Given the description of an element on the screen output the (x, y) to click on. 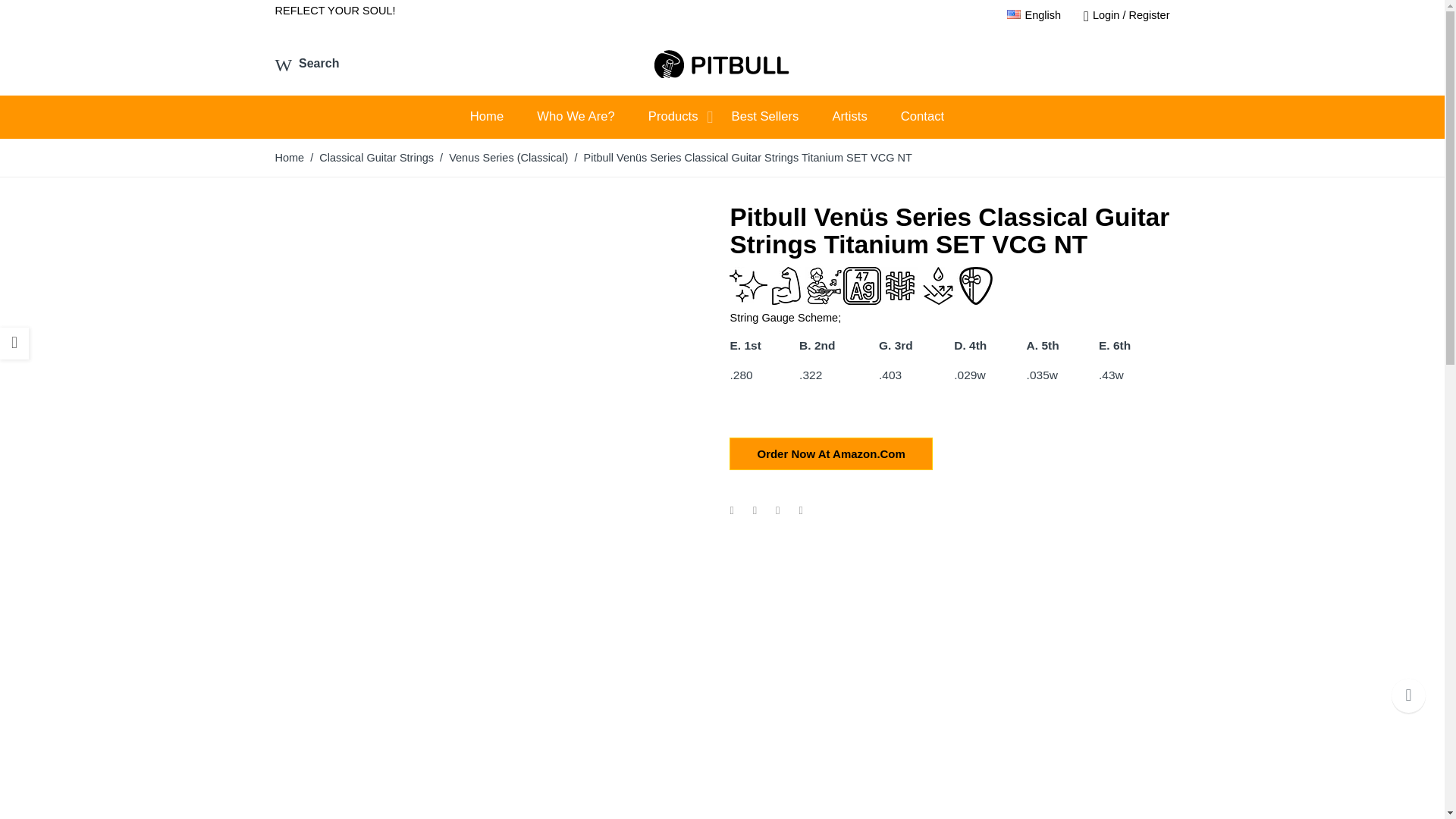
  Search (307, 62)
Products (688, 116)
English (1034, 15)
Who We Are? (591, 116)
Pitbull Strings - REFLECT YOUR SOUL! (721, 61)
Home (502, 116)
Home (502, 116)
Who We Are? (591, 116)
Best Sellers (780, 116)
Artists (863, 116)
